Given the description of an element on the screen output the (x, y) to click on. 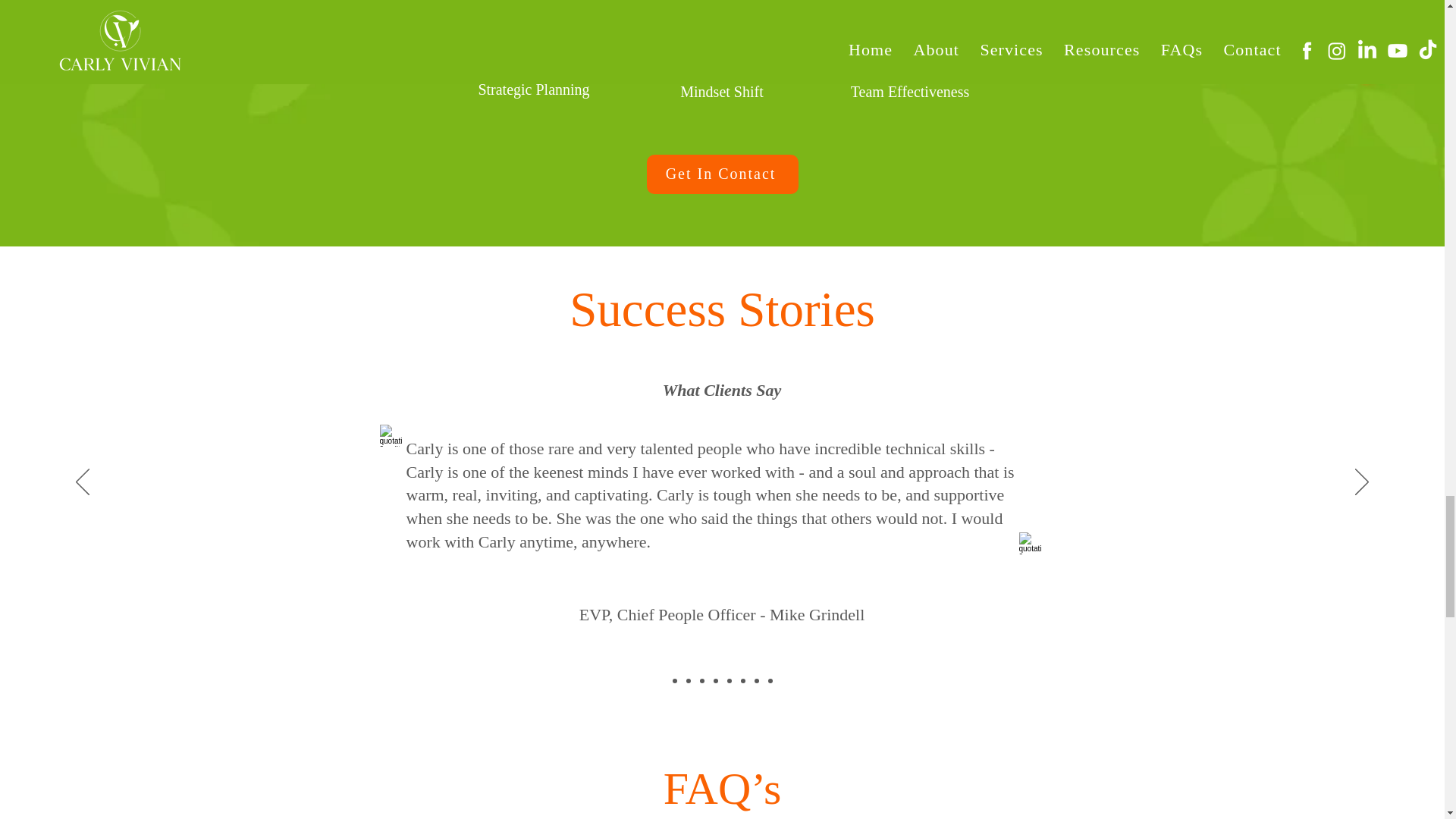
Get In Contact (721, 174)
